Given the description of an element on the screen output the (x, y) to click on. 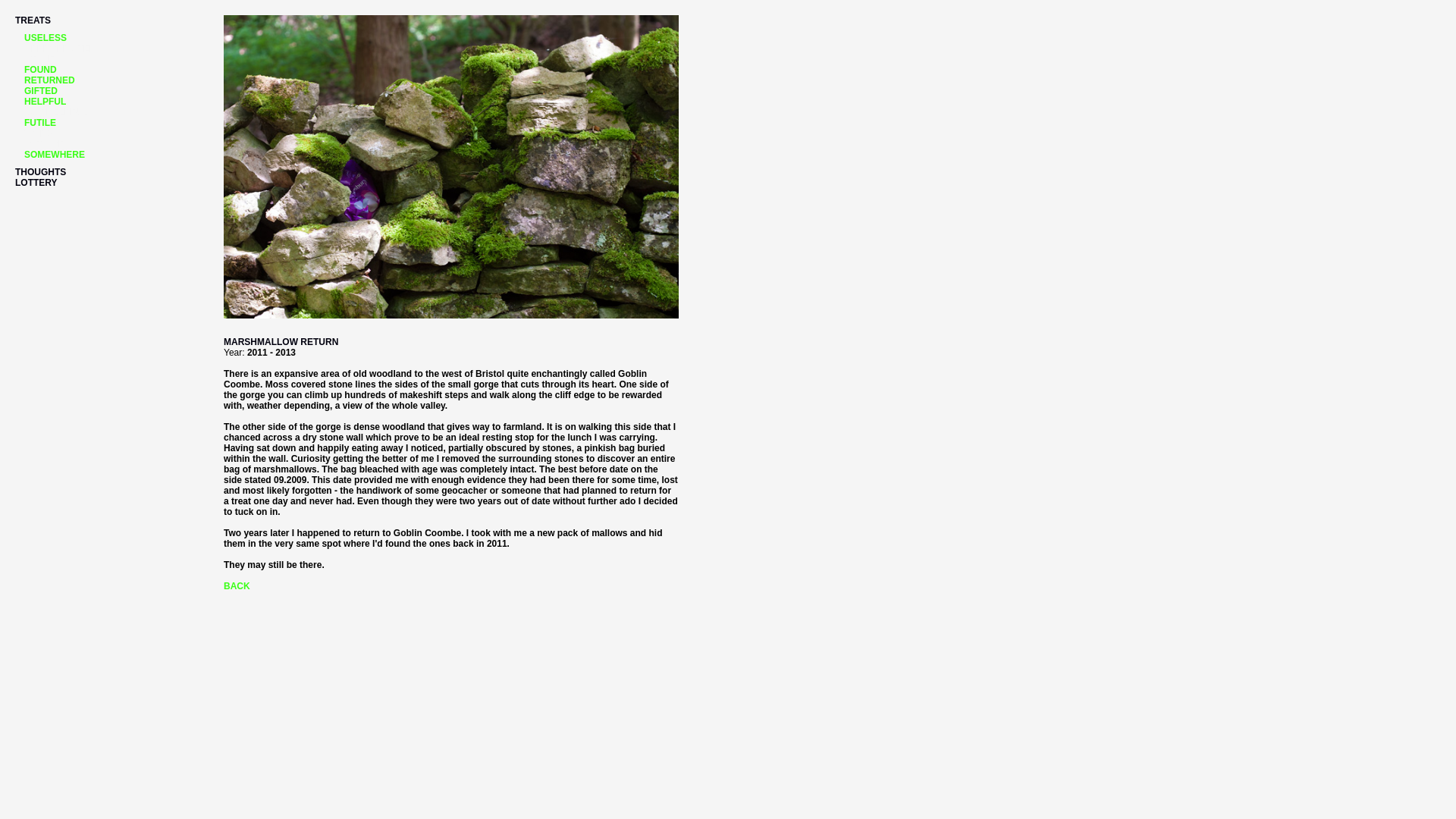
BACK (237, 585)
THOUGHTS (39, 172)
LOTTERY (36, 182)
TREATS (32, 20)
